Given the description of an element on the screen output the (x, y) to click on. 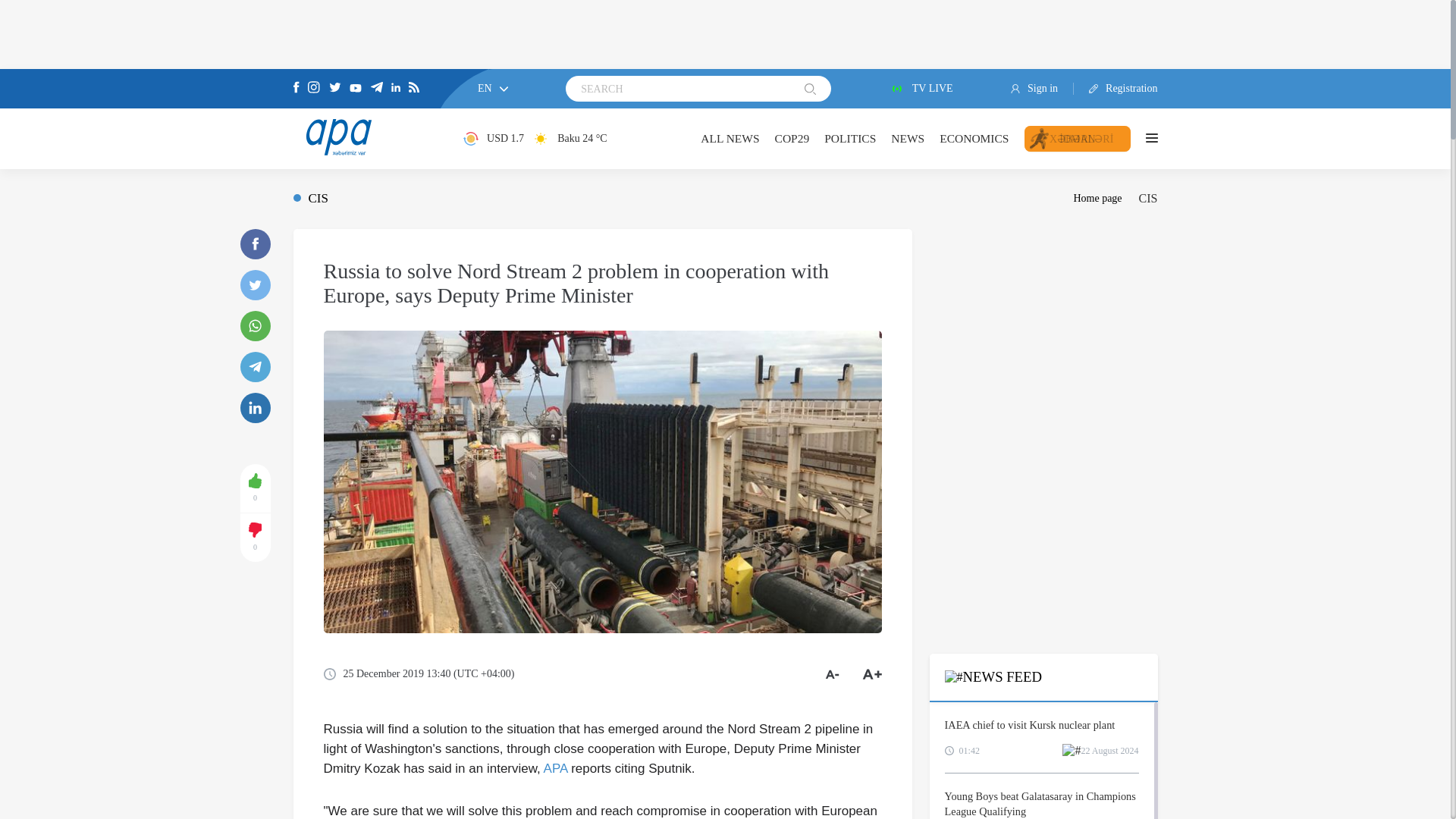
TV LIVE (921, 88)
NEWS (907, 138)
POLITICS (850, 138)
ECONOMICS (974, 138)
Registration (1115, 88)
COP29 (791, 138)
USD 1.7 (493, 138)
Iframe (725, 33)
Sign in (1042, 88)
Iframe (1043, 323)
